Given the description of an element on the screen output the (x, y) to click on. 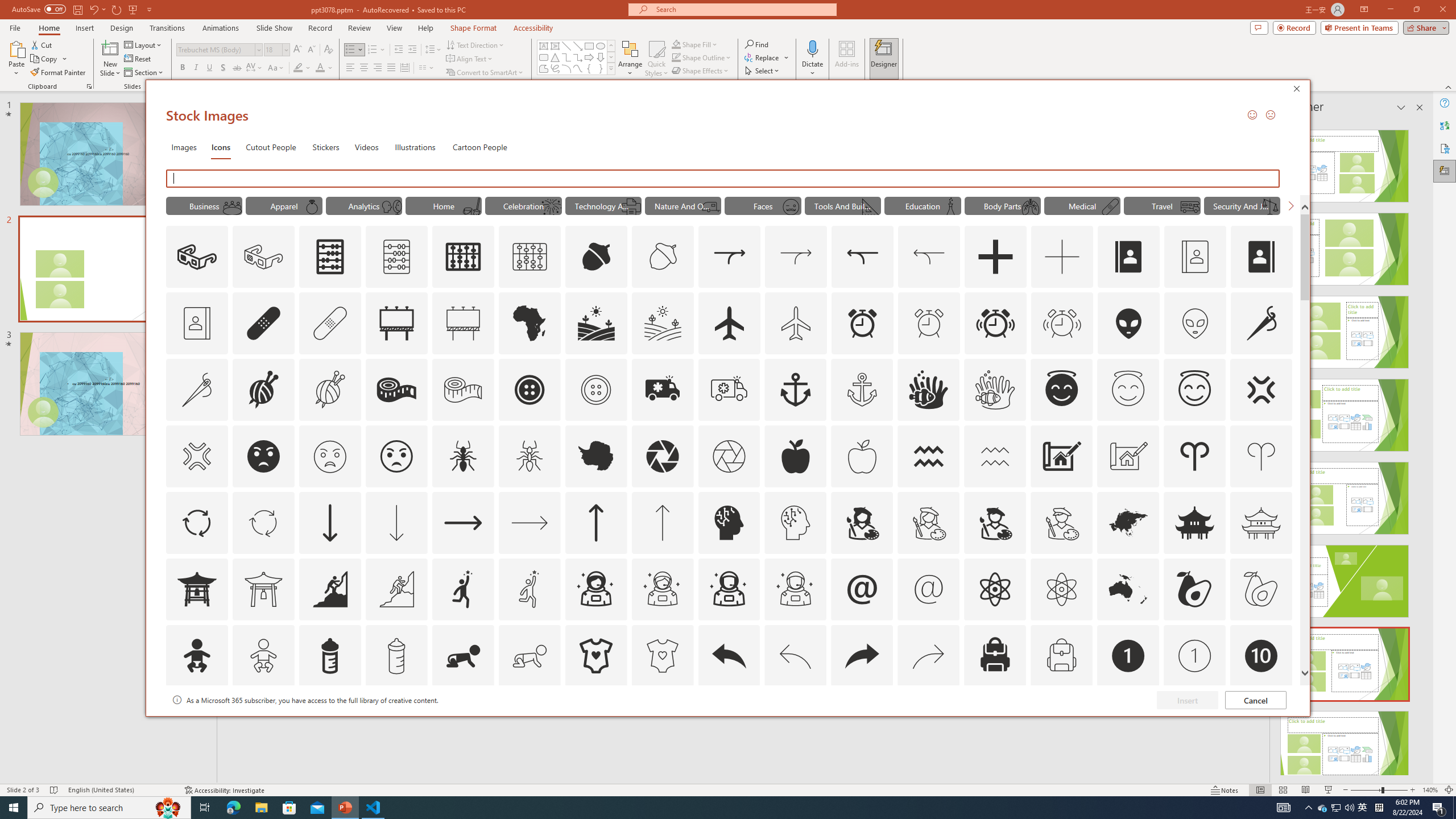
Distributed (404, 67)
AutomationID: Icons_AngryFace_Outline (395, 455)
Thumbnail (1283, 699)
AutomationID: Icons_AngelFace (1061, 389)
Right Brace (600, 68)
AutomationID: Icons_Badge4 (529, 721)
AutomationID: Icons_Agriculture (596, 323)
AutomationID: Icons_AsianTemple1 (196, 588)
AutomationID: Icons_BabyCrawling (462, 655)
AutomationID: Icons_Acquisition_LTR_M (796, 256)
